Given the description of an element on the screen output the (x, y) to click on. 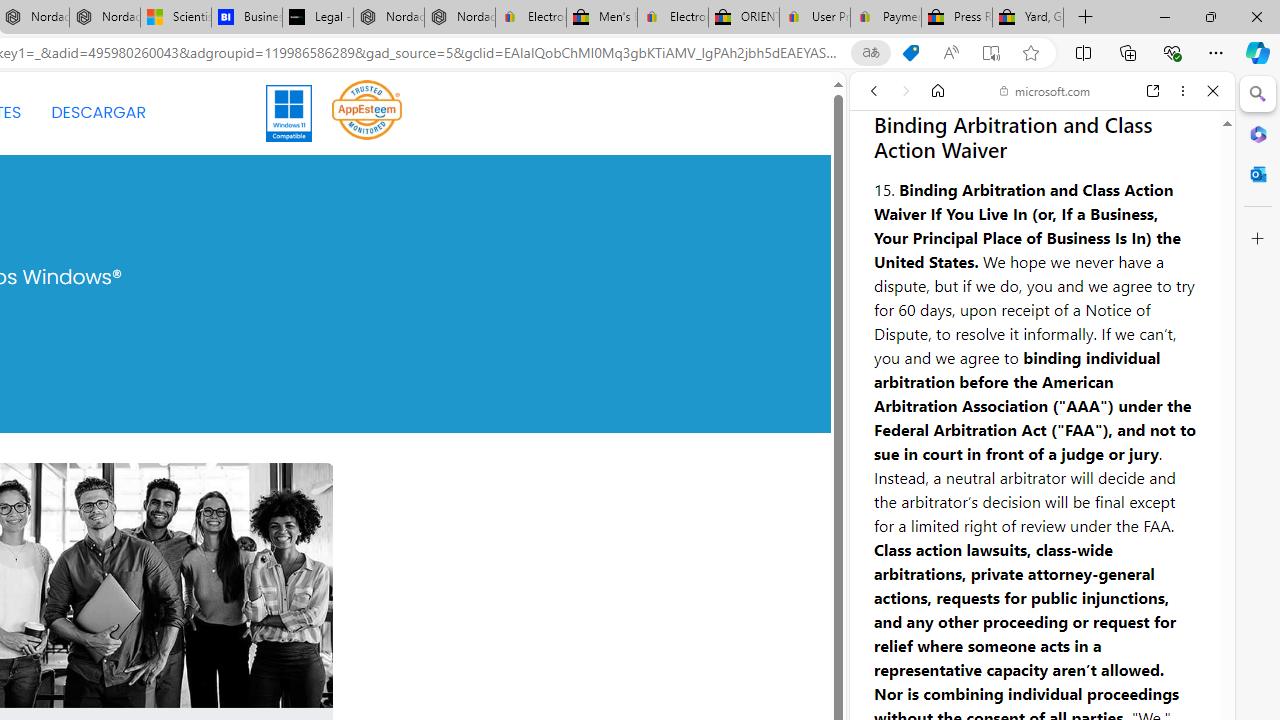
App Esteem (367, 112)
DESCARGAR (98, 112)
